Given the description of an element on the screen output the (x, y) to click on. 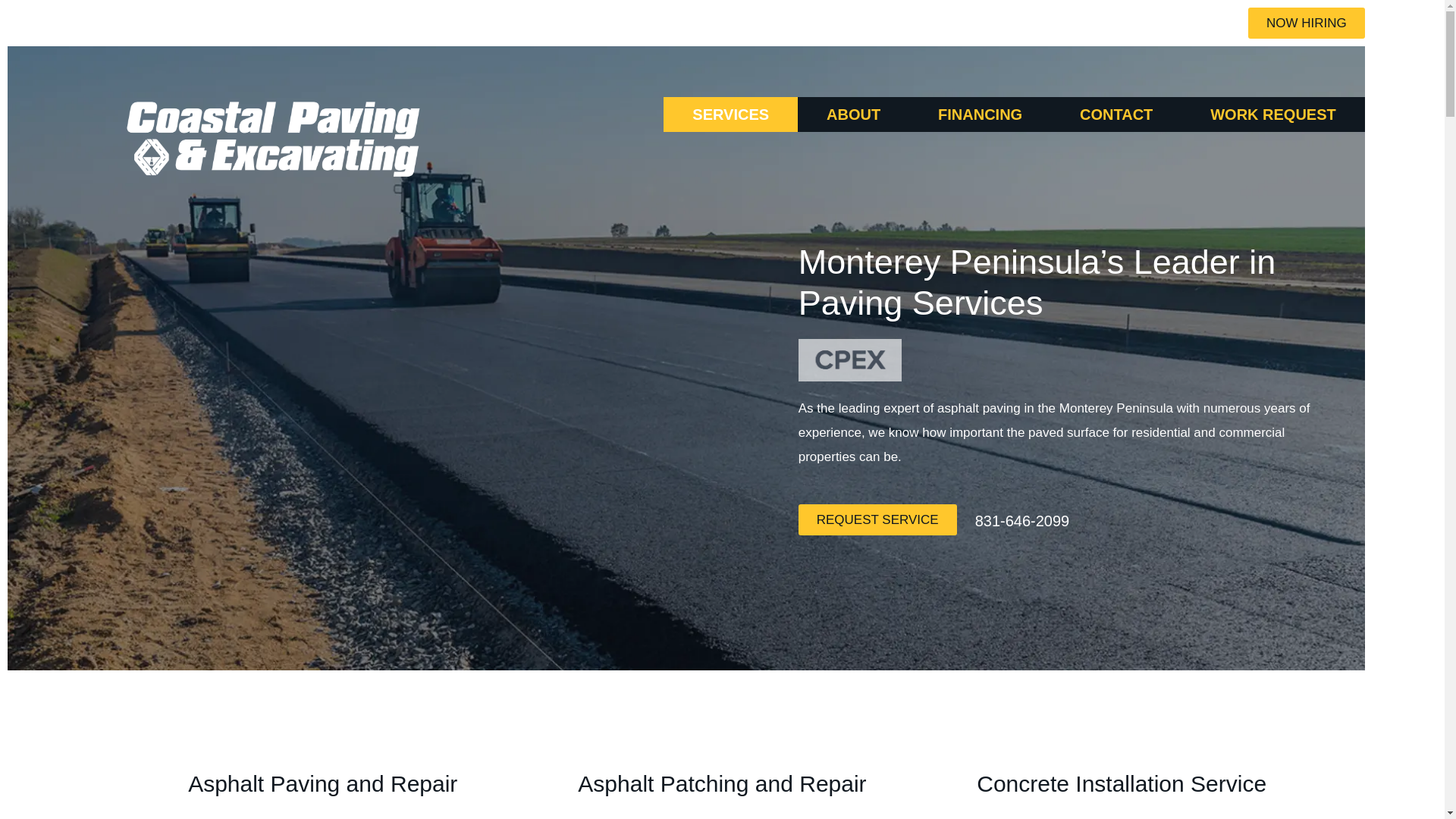
FINANCING (979, 114)
NOW HIRING (1306, 22)
WORK REQUEST (1272, 114)
SERVICES (730, 114)
ABOUT (852, 114)
CONTACT (1115, 114)
